Given the description of an element on the screen output the (x, y) to click on. 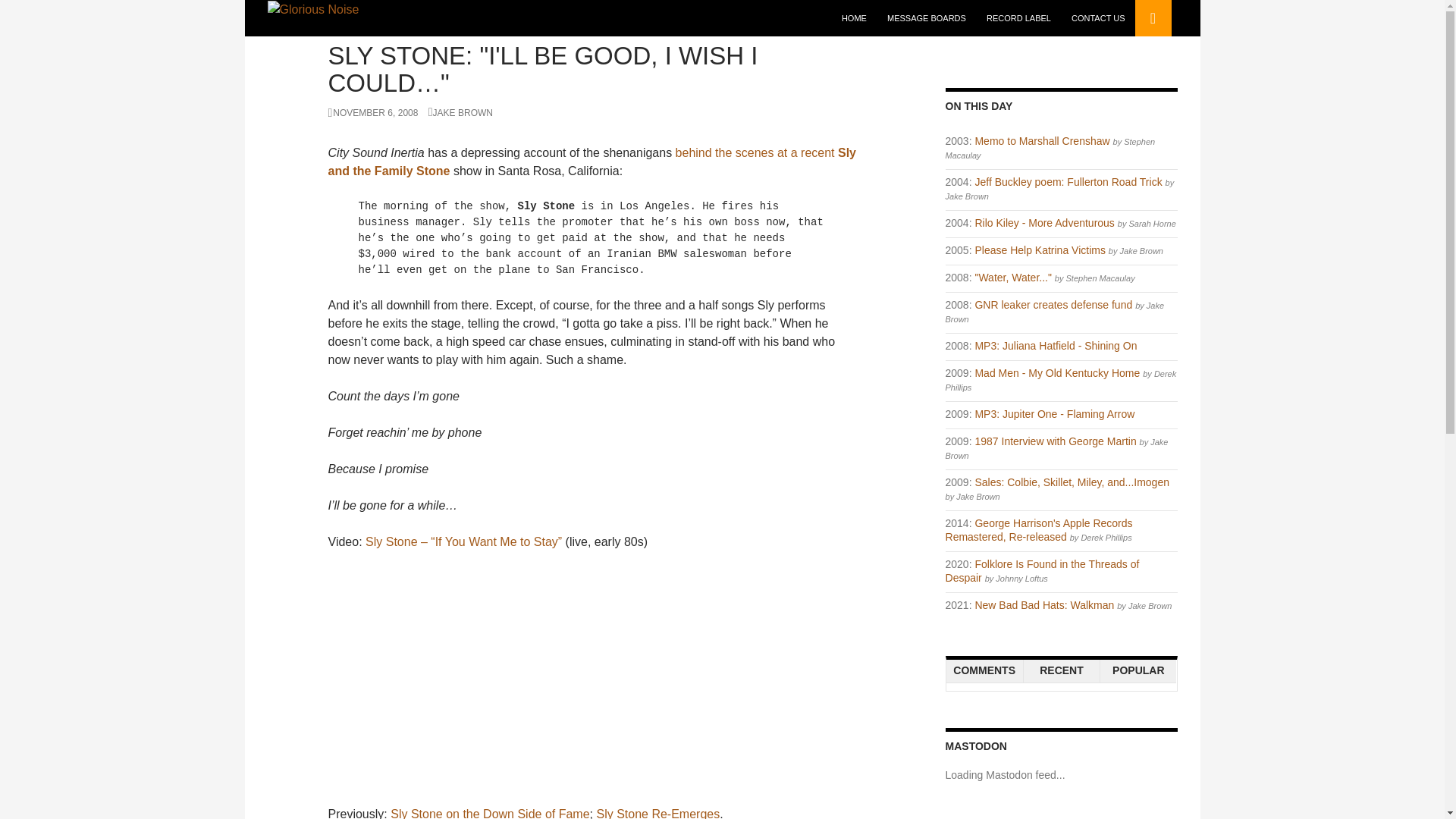
"Water, Water..." (1012, 277)
MP3: Juliana Hatfield - Shining On (1055, 345)
CONTACT US (1098, 18)
NOVEMBER 6, 2008 (374, 112)
Sarah Horne (1151, 223)
MP3: Jupiter One - Flaming Arrow (1054, 413)
HOME (854, 18)
Jeff Buckley poem: Fullerton Road Trick (1067, 182)
Sly Stone Re-Emerges (657, 813)
Derek Phillips (1060, 380)
